Given the description of an element on the screen output the (x, y) to click on. 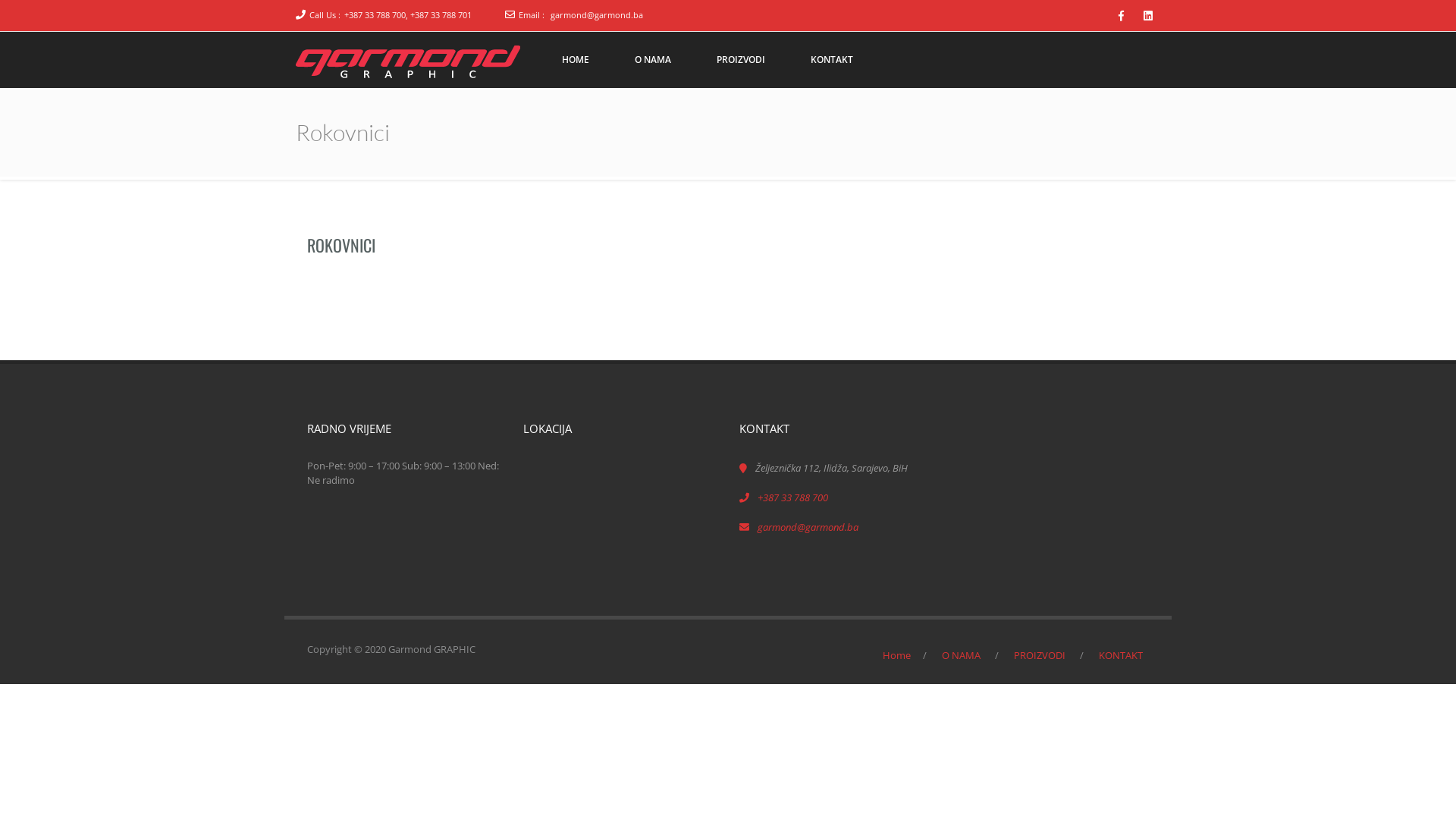
ROKOVNICI Element type: text (341, 244)
Home Element type: text (896, 654)
garmond@garmond.ba Element type: text (807, 526)
O NAMA Element type: text (960, 654)
PROIZVODI Element type: text (740, 59)
+387 33 788 700 Element type: text (792, 496)
O NAMA Element type: text (652, 59)
KONTAKT Element type: text (831, 59)
HOME Element type: text (575, 59)
PROIZVODI Element type: text (1039, 654)
KONTAKT Element type: text (1120, 654)
+387 33 788 700, +387 33 788 701 Element type: text (407, 14)
garmond@garmond.ba Element type: text (596, 14)
